Given the description of an element on the screen output the (x, y) to click on. 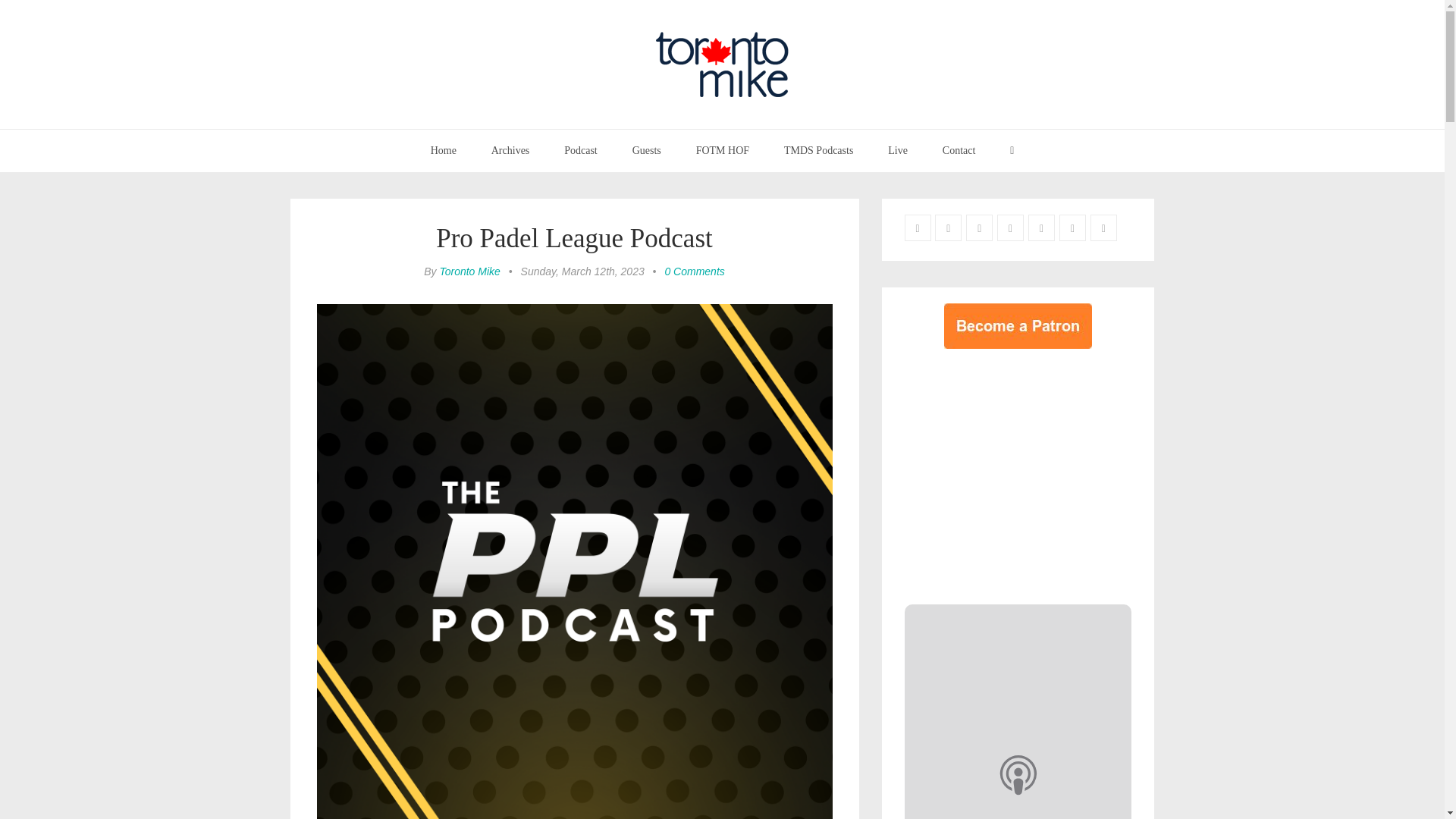
Toronto Mike (469, 271)
Guests (646, 150)
Archives (511, 150)
TMDS Podcasts (818, 150)
Advertisement (1031, 472)
Contact (958, 150)
0 Comments (693, 271)
Home (442, 150)
FOTM HOF (722, 150)
Podcast (580, 150)
